Given the description of an element on the screen output the (x, y) to click on. 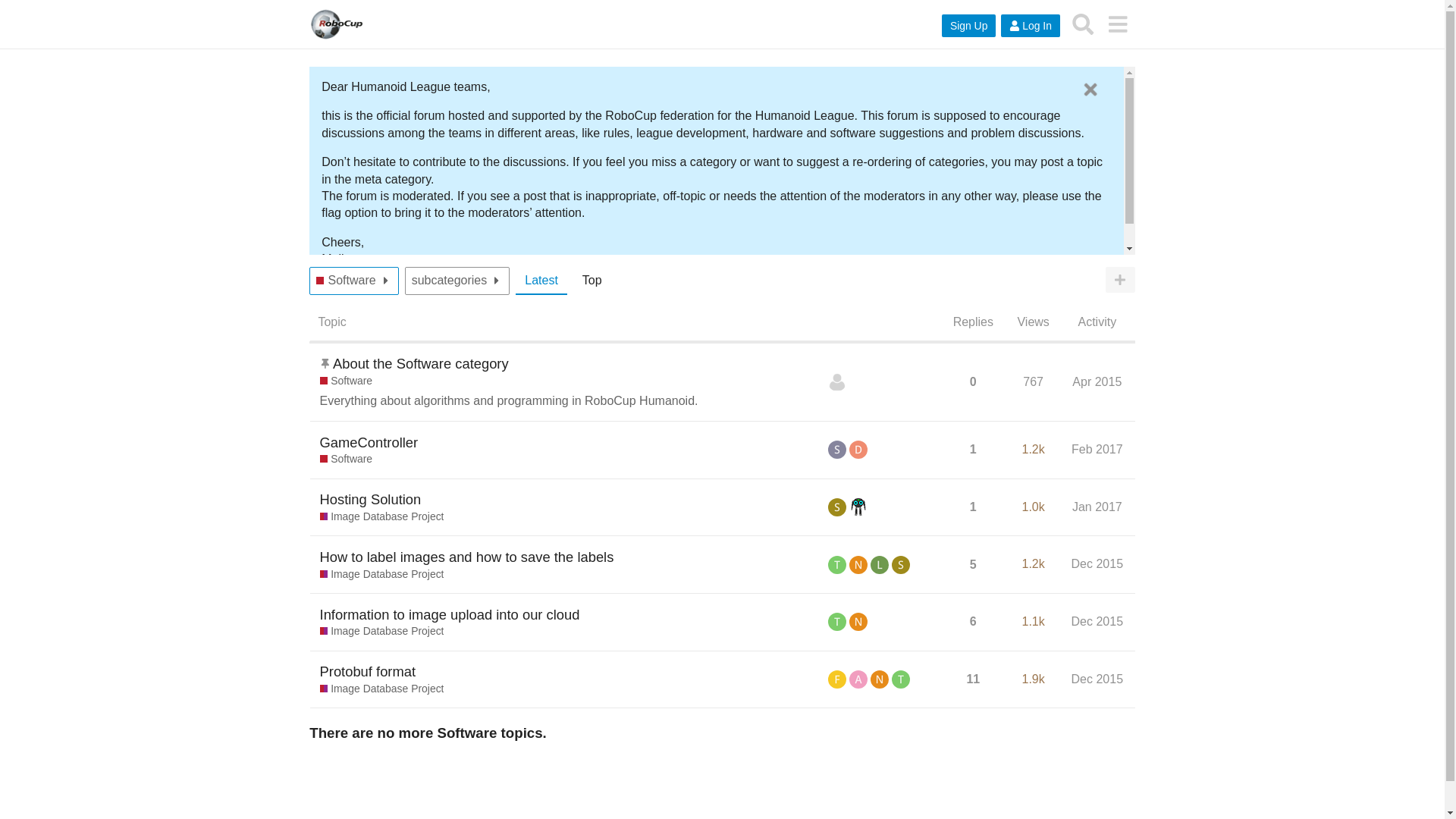
Image Database Project (382, 516)
Log In (1030, 25)
About the Software category (420, 363)
topics with recent posts (541, 280)
Dismiss this banner (1090, 88)
this topic has been viewed 767 times (1033, 381)
Latest (541, 280)
subcategories (449, 280)
